Given the description of an element on the screen output the (x, y) to click on. 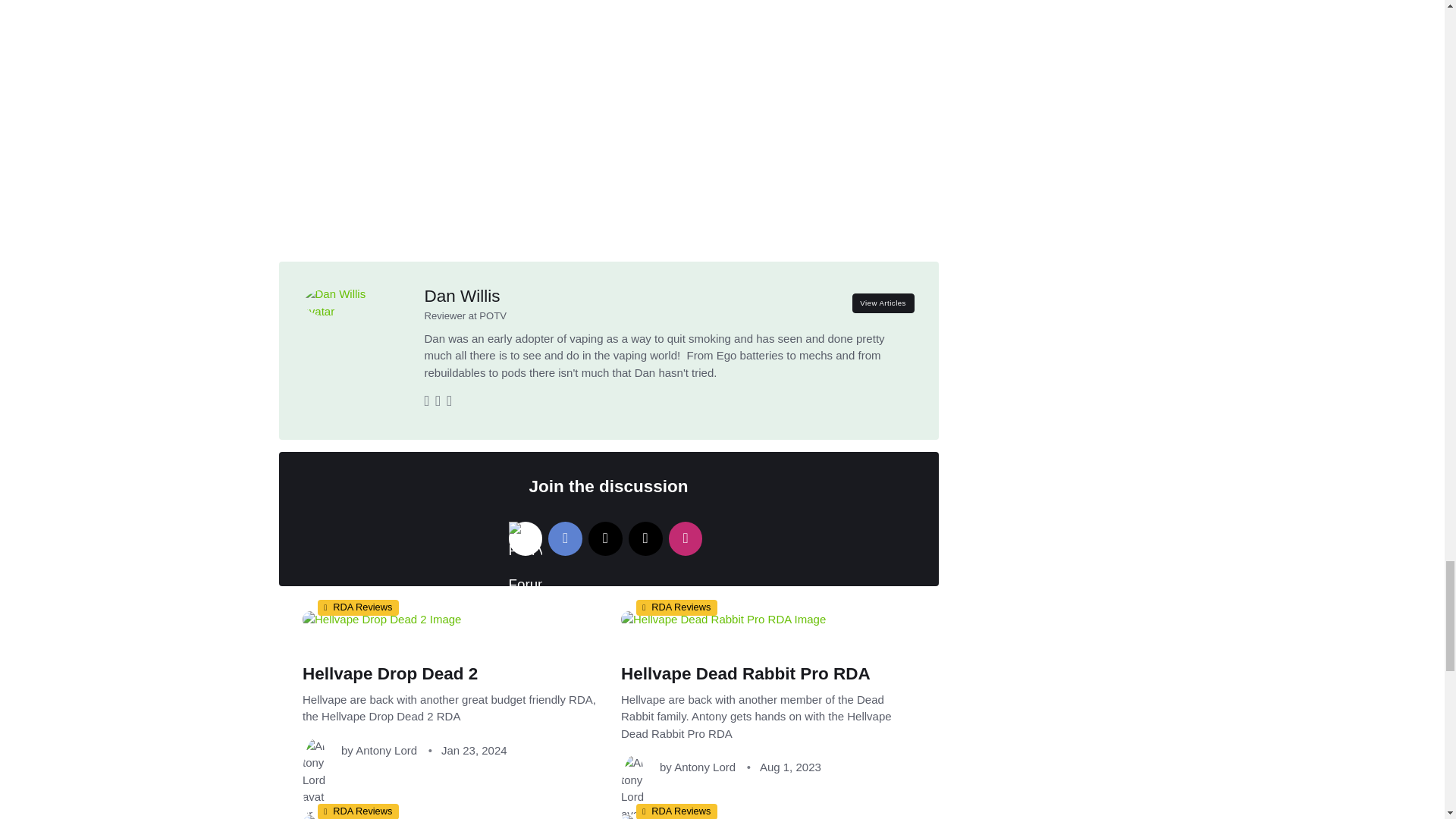
View Articles (882, 302)
RDA Reviews (357, 606)
Hellvape Drop Dead 2 (389, 673)
Antony Lord (385, 748)
Dan Willis (462, 295)
